Given the description of an element on the screen output the (x, y) to click on. 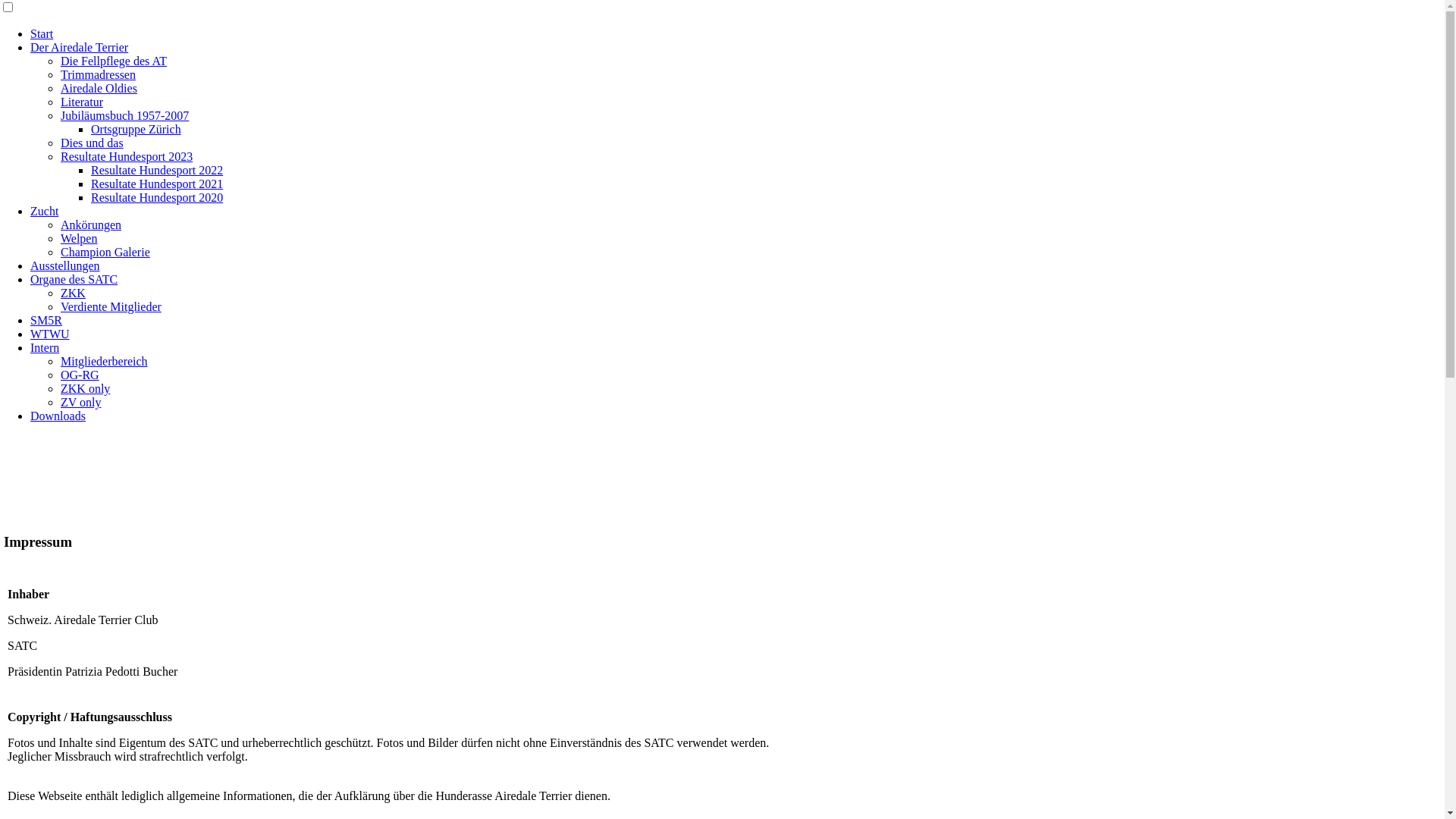
Organe des SATC Element type: text (73, 279)
Intern Element type: text (44, 347)
Literatur Element type: text (81, 101)
Welpen Element type: text (78, 238)
Champion Galerie Element type: text (105, 251)
Ausstellungen Element type: text (65, 265)
Resultate Hundesport 2023 Element type: text (126, 156)
Verdiente Mitglieder Element type: text (110, 306)
Trimmadressen Element type: text (97, 74)
ZKK Element type: text (72, 292)
OG-RG Element type: text (79, 374)
ZKK only Element type: text (84, 388)
Zucht Element type: text (44, 210)
SM5R Element type: text (46, 319)
Die Fellpflege des AT Element type: text (113, 60)
Der Airedale Terrier Element type: text (79, 46)
Mitgliederbereich Element type: text (103, 360)
Dies und das Element type: text (91, 142)
Airedale Oldies Element type: text (98, 87)
Resultate Hundesport 2021 Element type: text (156, 183)
Resultate Hundesport 2022 Element type: text (156, 169)
WTWU Element type: text (49, 333)
ZV only Element type: text (80, 401)
Downloads Element type: text (57, 415)
Resultate Hundesport 2020 Element type: text (156, 197)
Start Element type: text (41, 33)
